Given the description of an element on the screen output the (x, y) to click on. 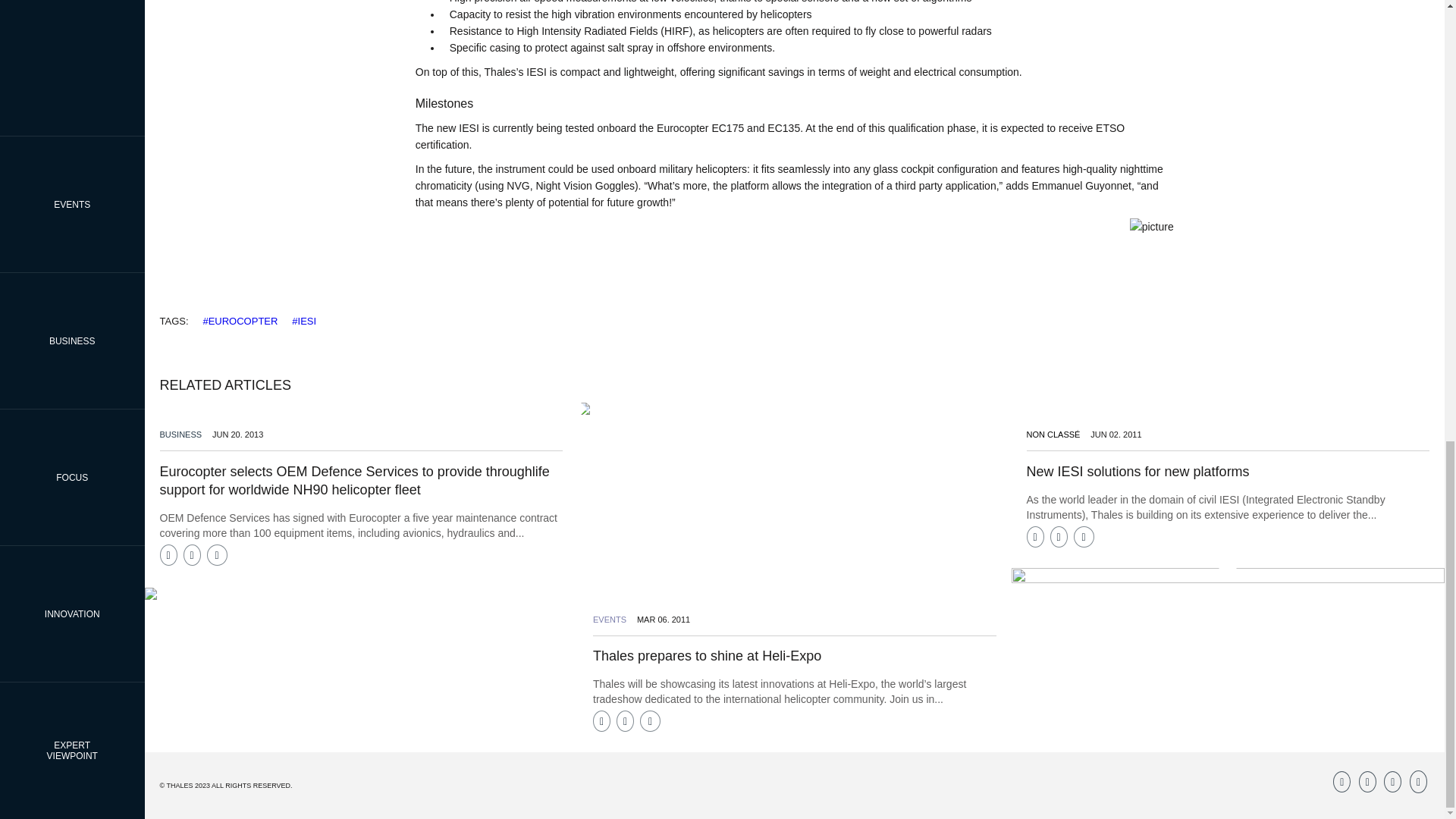
BUSINESS (180, 433)
